Given the description of an element on the screen output the (x, y) to click on. 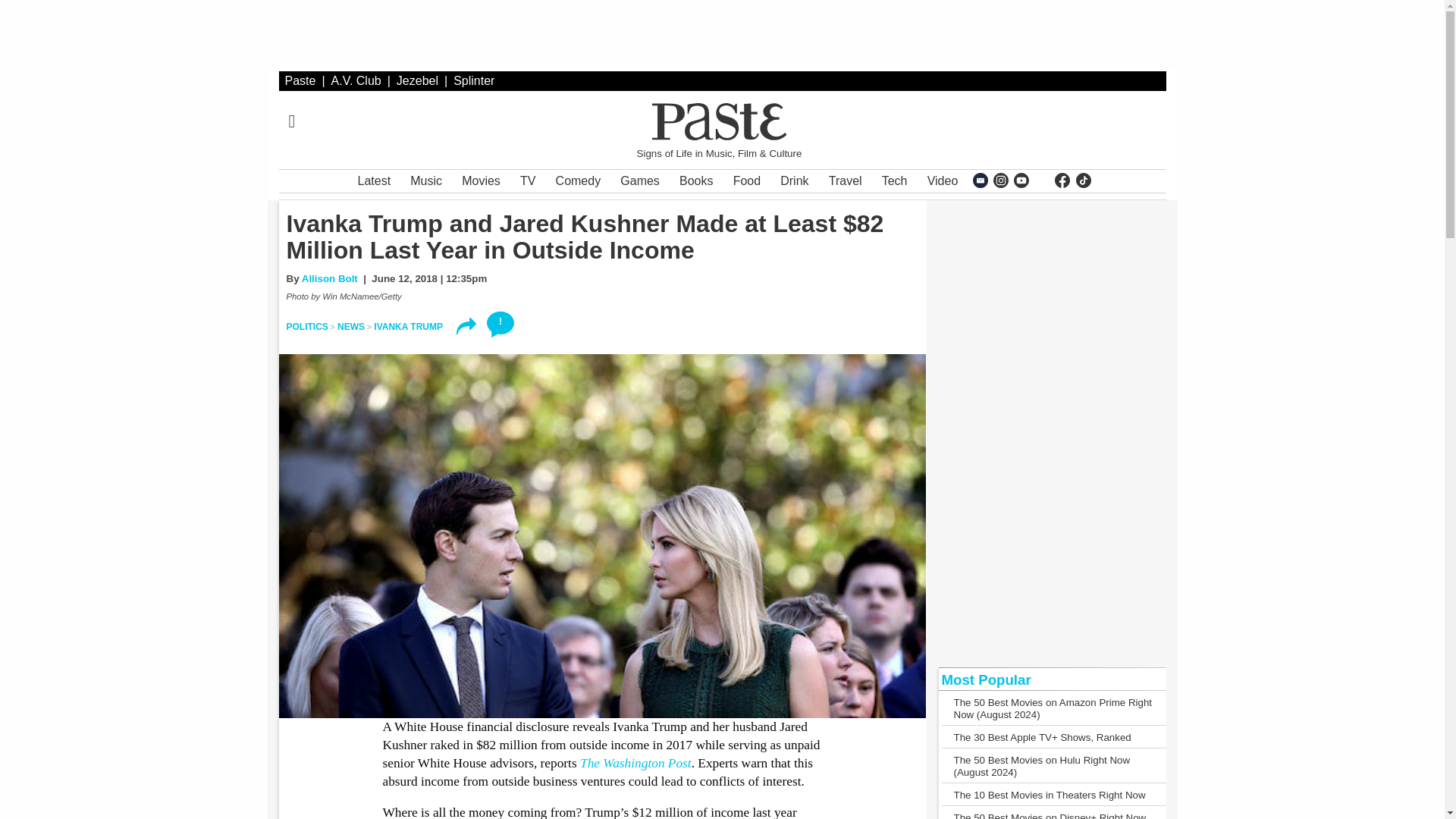
Drink (793, 180)
Games (639, 180)
Travel (844, 180)
Books (695, 180)
TV (527, 180)
Comedy (578, 180)
Jezebel (417, 80)
Paste (300, 80)
A.V. Club (356, 80)
Food (746, 180)
